Given the description of an element on the screen output the (x, y) to click on. 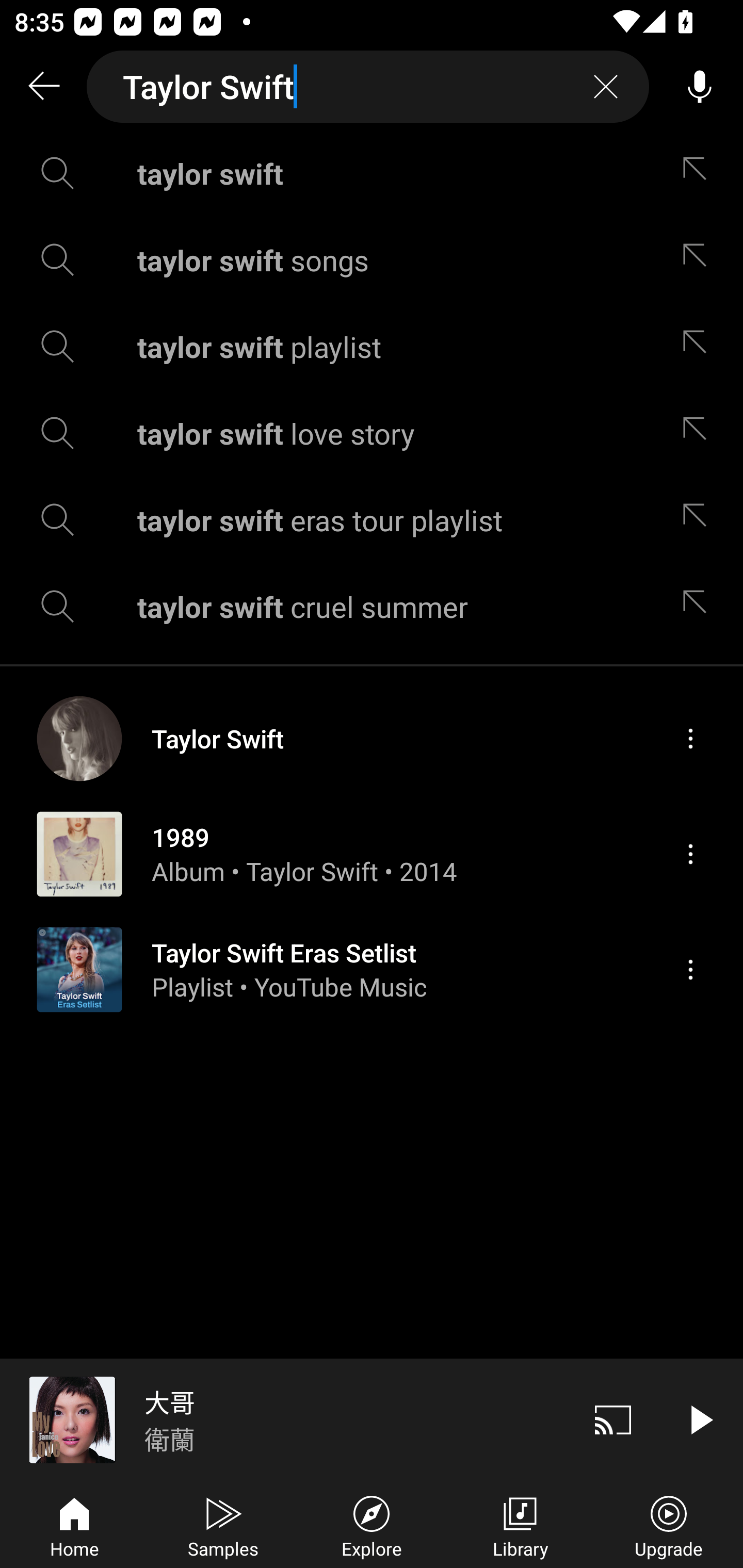
Search back (43, 86)
Taylor Swift (367, 86)
Clear search (605, 86)
Voice search (699, 86)
taylor swift Edit suggestion taylor swift (371, 173)
Edit suggestion taylor swift (699, 173)
Edit suggestion taylor swift songs (699, 259)
Edit suggestion taylor swift playlist (699, 346)
Edit suggestion taylor swift love story (699, 433)
Edit suggestion taylor swift eras tour playlist (699, 519)
Edit suggestion taylor swift cruel summer (699, 605)
Menu (690, 738)
Menu (690, 854)
Menu (690, 968)
大哥 衛蘭 (284, 1419)
Cast. Disconnected (612, 1419)
Play video (699, 1419)
Home (74, 1524)
Samples (222, 1524)
Explore (371, 1524)
Library (519, 1524)
Upgrade (668, 1524)
